Given the description of an element on the screen output the (x, y) to click on. 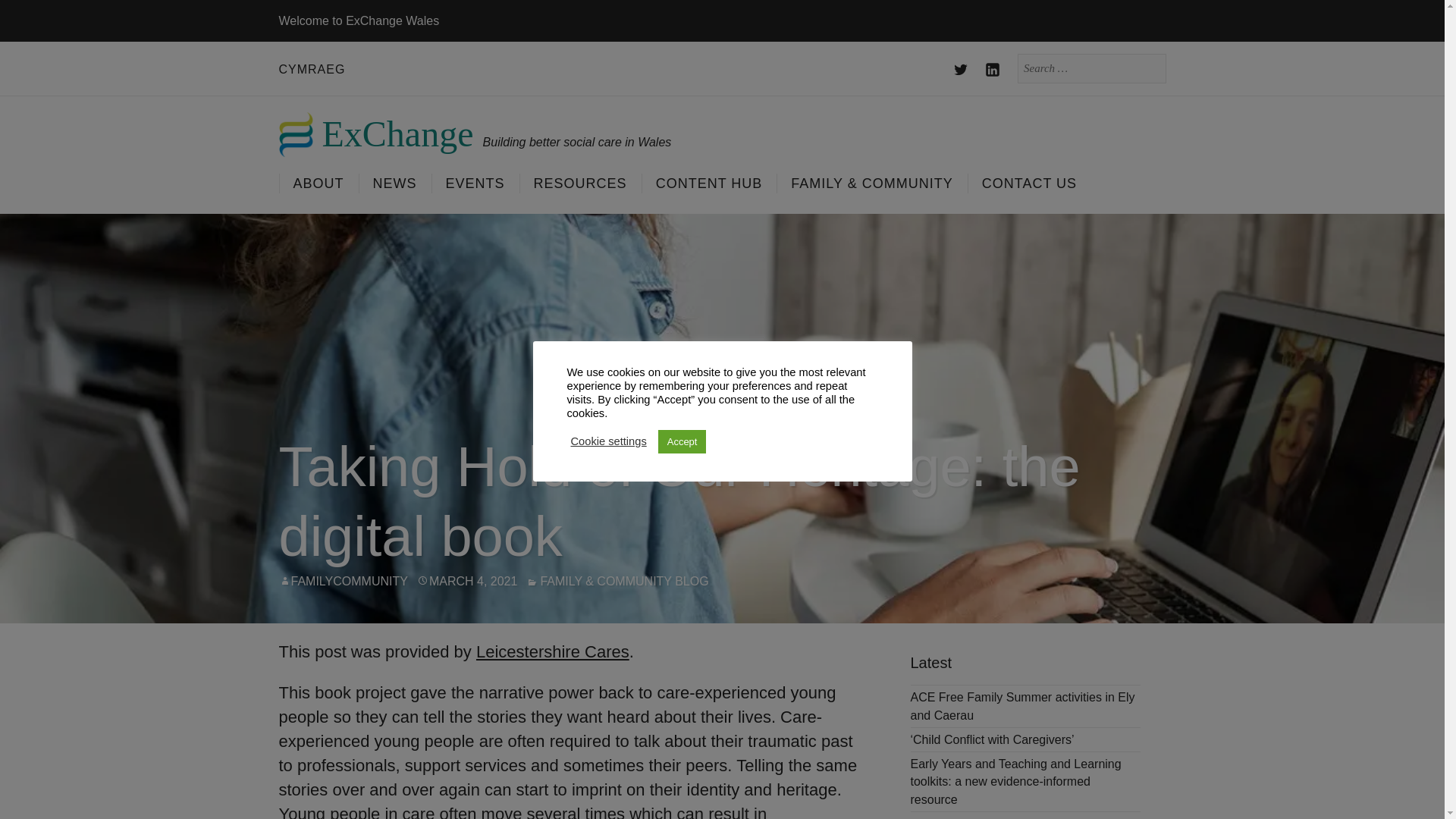
ExChange News (394, 183)
TWITTER (961, 69)
CONTENT HUB (709, 183)
CYMRAEG (312, 68)
RESOURCES (579, 183)
LINKEDIN (993, 69)
Leicestershire Cares (552, 651)
CONTACT US (1029, 183)
NEWS (394, 183)
ABOUT (318, 183)
View our Twitter page (961, 69)
FAMILYCOMMUNITY (349, 581)
MARCH 4, 2021 (473, 581)
Search for: (1091, 68)
ExChange (376, 130)
